Given the description of an element on the screen output the (x, y) to click on. 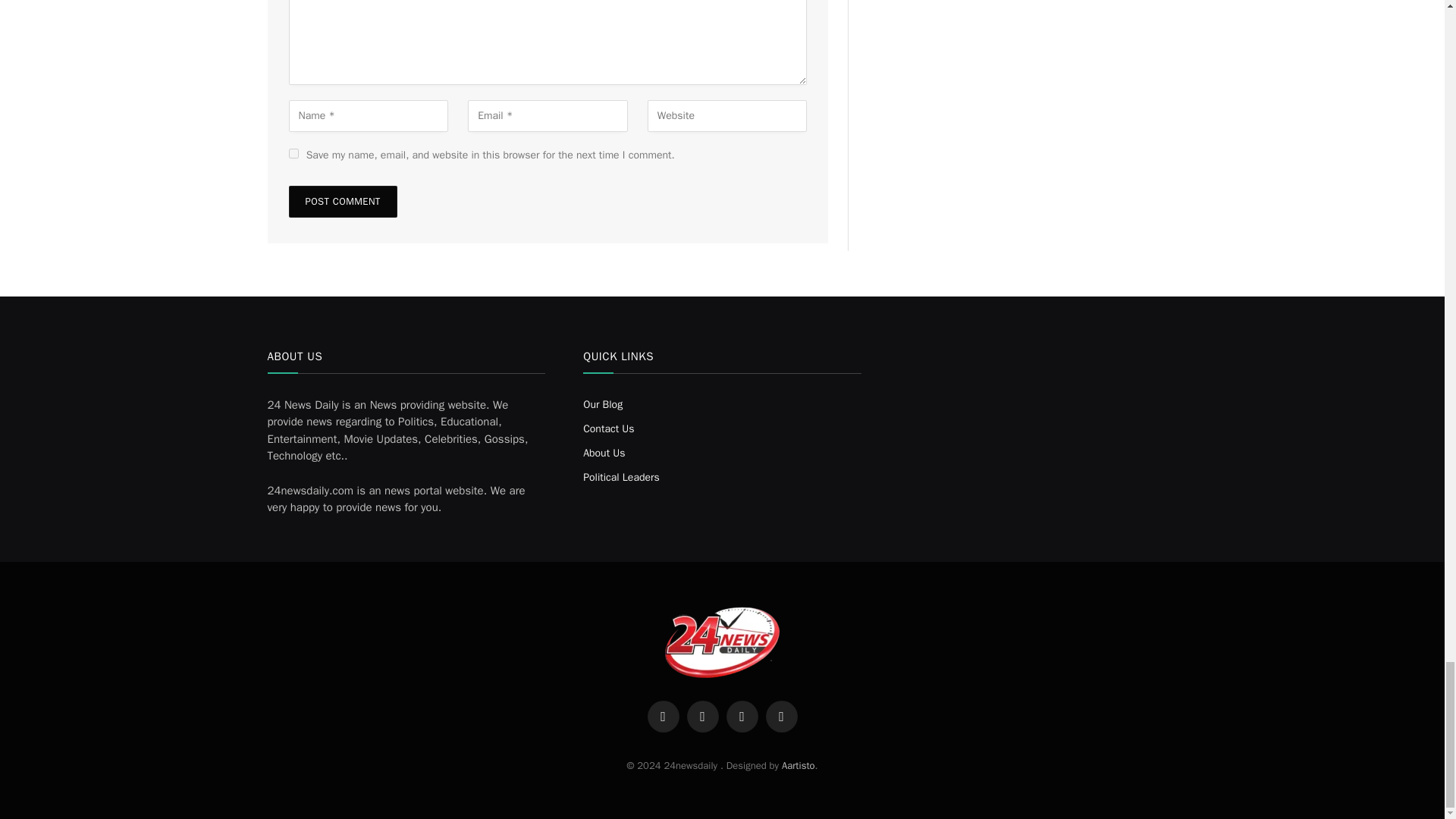
Post Comment (342, 201)
yes (293, 153)
